Given the description of an element on the screen output the (x, y) to click on. 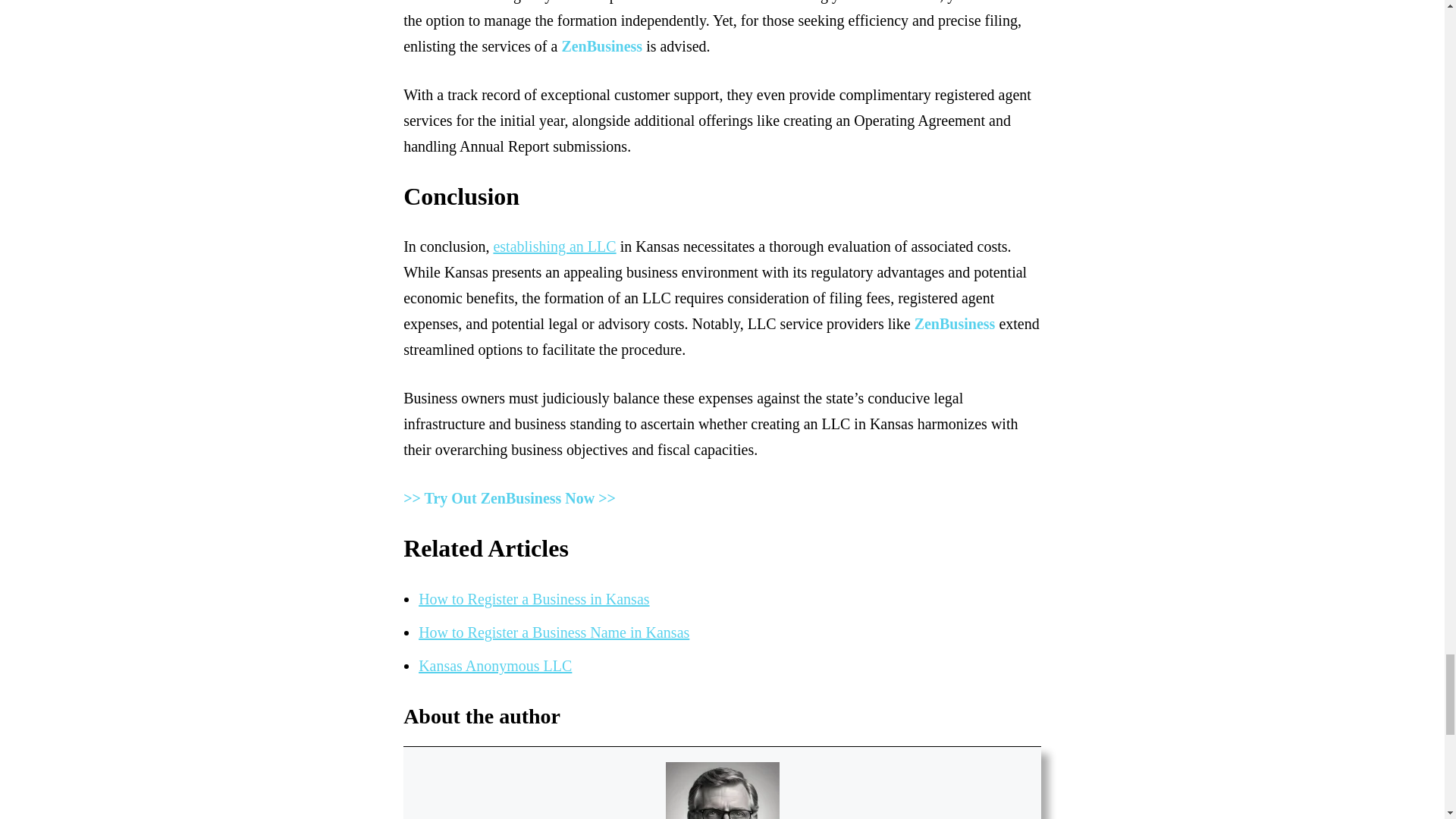
ZenBusiness (601, 45)
